Given the description of an element on the screen output the (x, y) to click on. 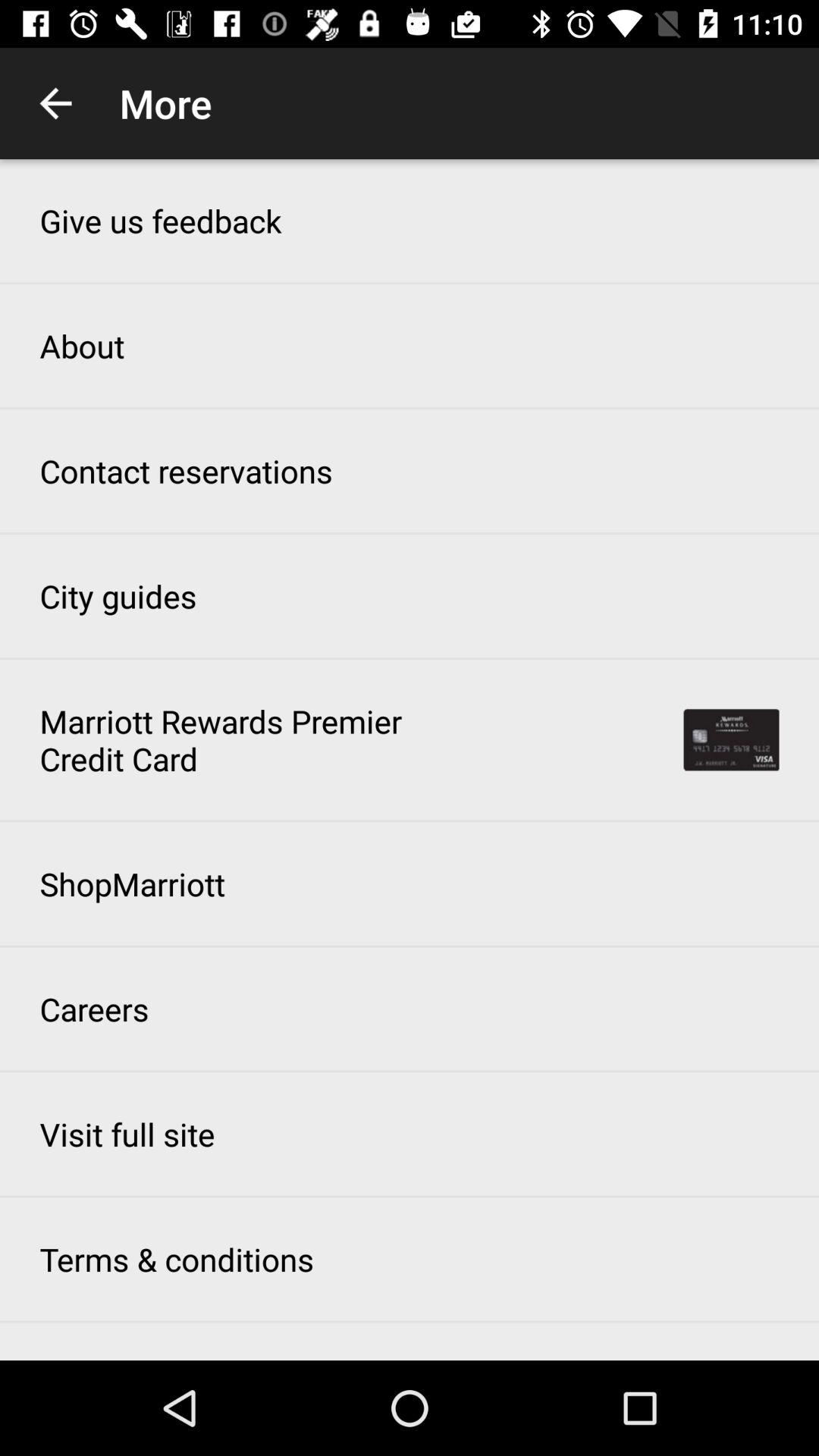
jump to the shopmarriott (132, 883)
